Given the description of an element on the screen output the (x, y) to click on. 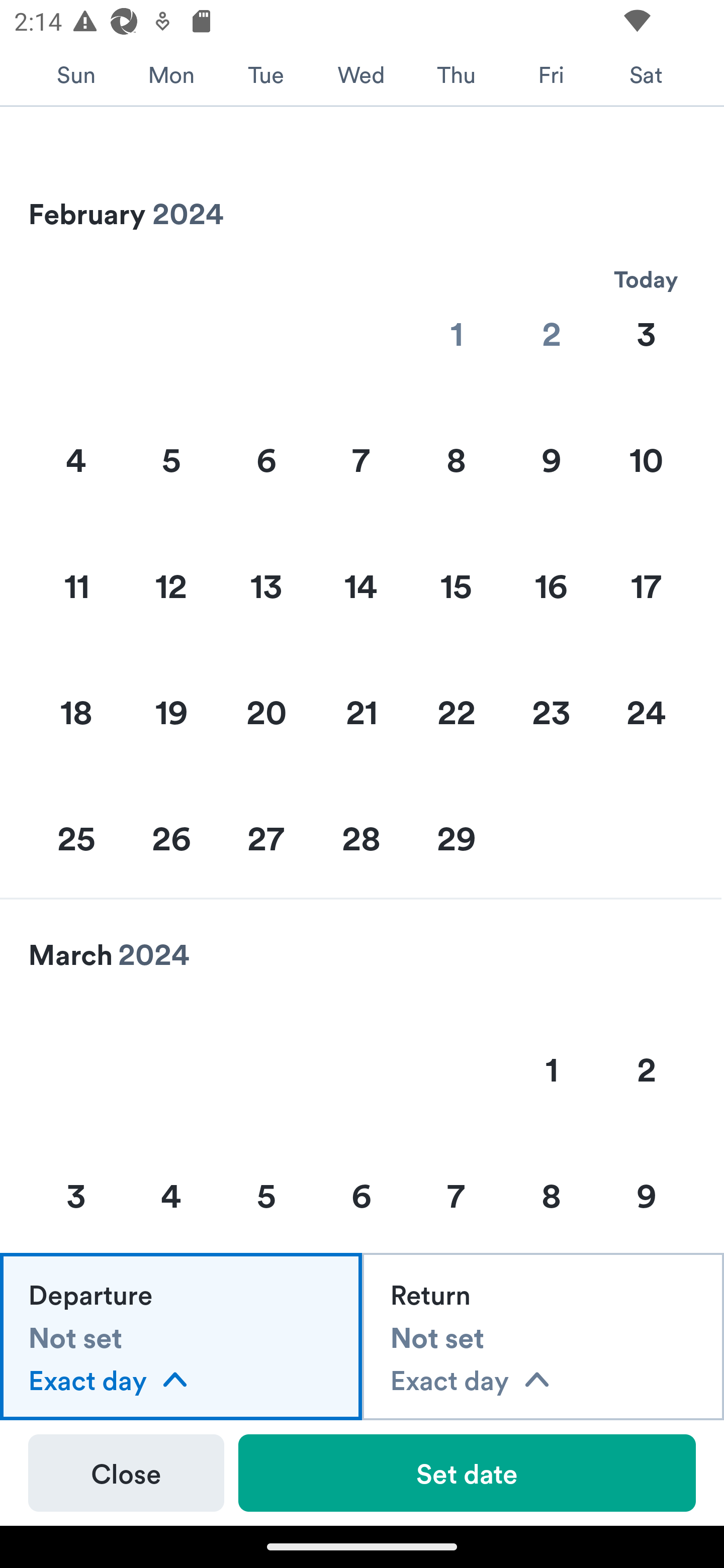
Close (126, 1472)
Set date (466, 1472)
